Given the description of an element on the screen output the (x, y) to click on. 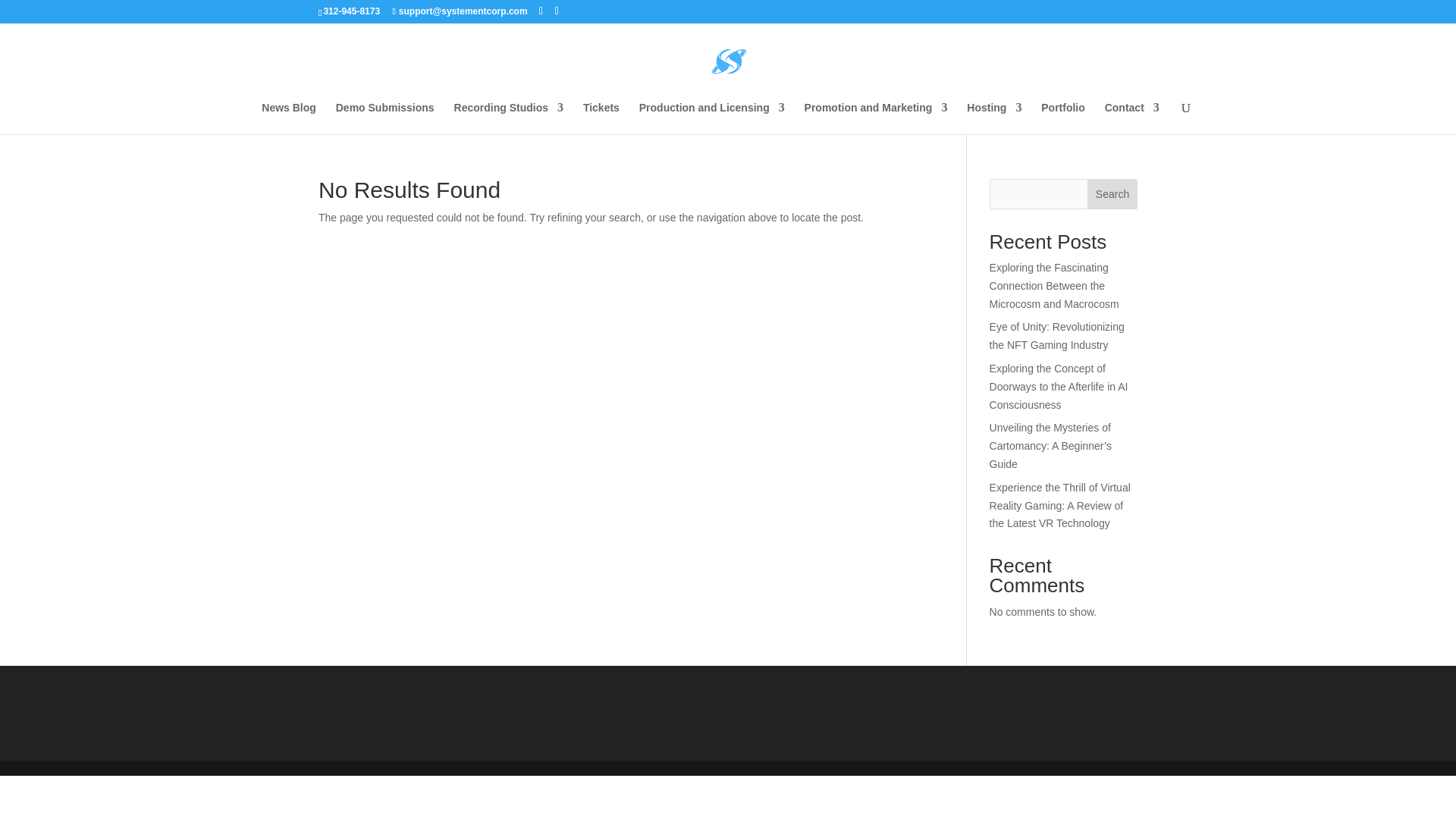
Hosting (994, 118)
Promotion and Marketing (876, 118)
Production and Licensing (711, 118)
Recording Studios (508, 118)
Contact (1131, 118)
Demo Submissions (384, 118)
Tickets (601, 118)
Portfolio (1062, 118)
News Blog (288, 118)
